Given the description of an element on the screen output the (x, y) to click on. 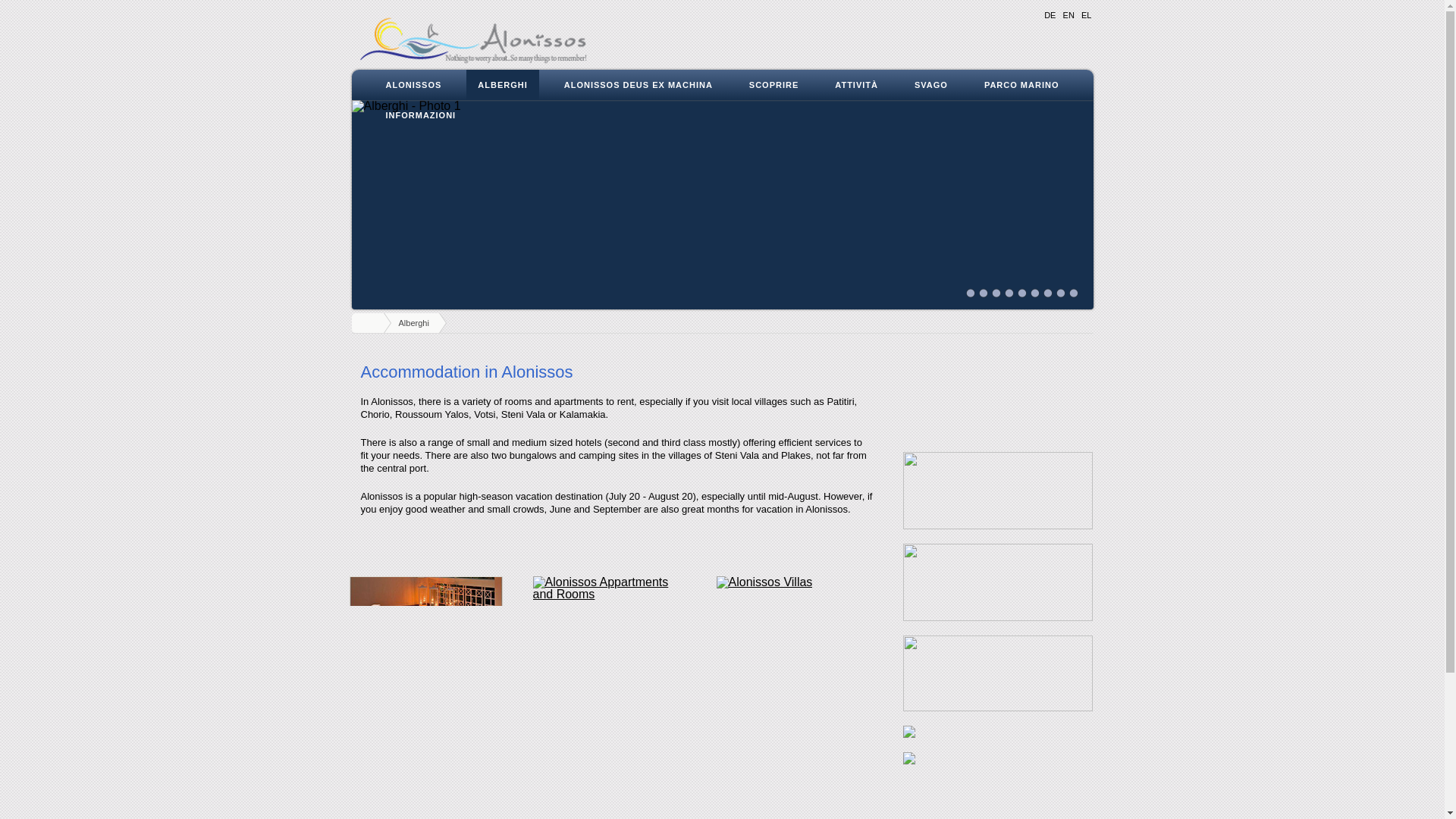
Official website of the Municipality of Alonissos (470, 33)
Alberghi (501, 84)
DE (1049, 15)
ALONISSOS (413, 84)
Alonissos (413, 84)
ALONISSOS DEUS EX MACHINA (638, 84)
EN (1068, 15)
Alonissos Deus Ex Machina (638, 84)
ALBERGHI (501, 84)
SCOPRIRE (773, 84)
EL (1085, 15)
